Given the description of an element on the screen output the (x, y) to click on. 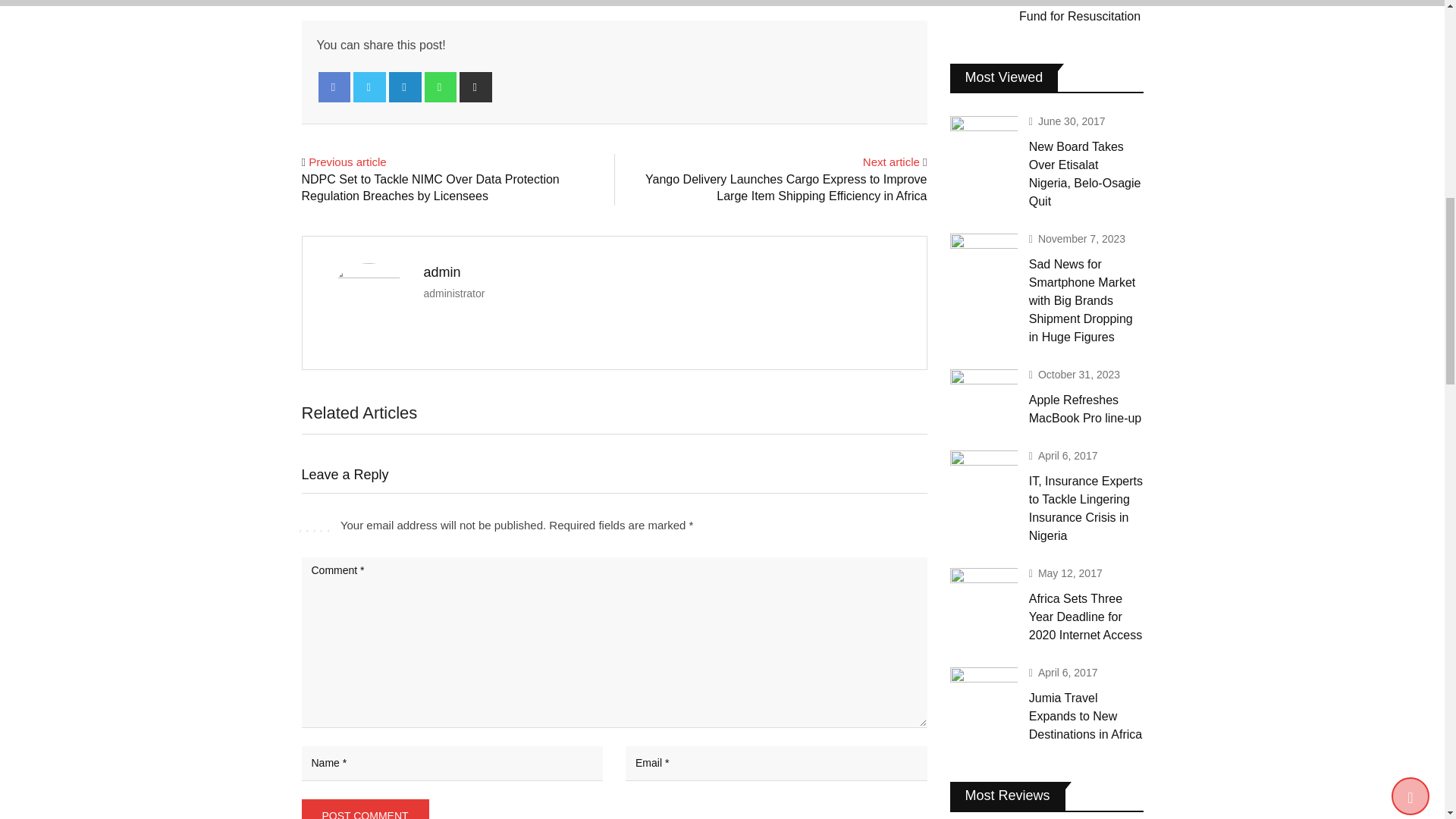
Posts by admin (441, 272)
Post Comment (365, 809)
